Given the description of an element on the screen output the (x, y) to click on. 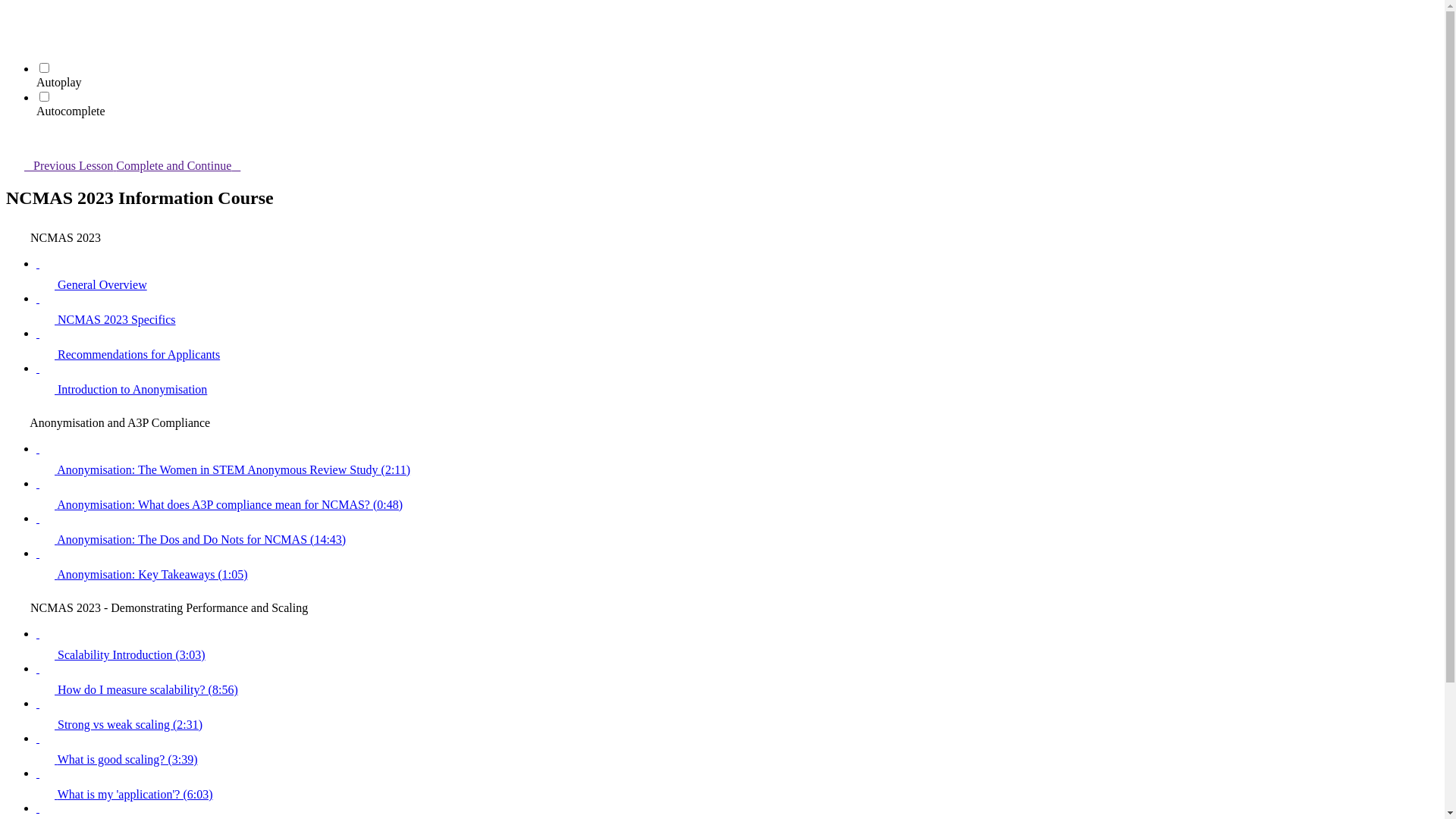
Complete and Continue   Element type: text (187, 165)
Back to course curriculum Element type: hover (15, 15)
  Strong vs weak scaling (2:31) Element type: text (737, 713)
  What is good scaling? (3:39) Element type: text (737, 748)
  Scalability Introduction (3:03) Element type: text (737, 644)
Course Sidebar Element type: hover (15, 139)
  General Overview Element type: text (737, 274)
  Anonymisation: Key Takeaways (1:05) Element type: text (737, 563)
Settings Menu Element type: hover (15, 36)
  Recommendations for Applicants Element type: text (737, 343)
  Introduction to Anonymisation Element type: text (737, 378)
  How do I measure scalability? (8:56) Element type: text (737, 679)
  What is my 'application'? (6:03) Element type: text (737, 783)
  NCMAS 2023 Specifics Element type: text (737, 308)
  Anonymisation: The Dos and Do Nots for NCMAS (14:43) Element type: text (737, 528)
  Previous Lesson Element type: text (61, 165)
